Given the description of an element on the screen output the (x, y) to click on. 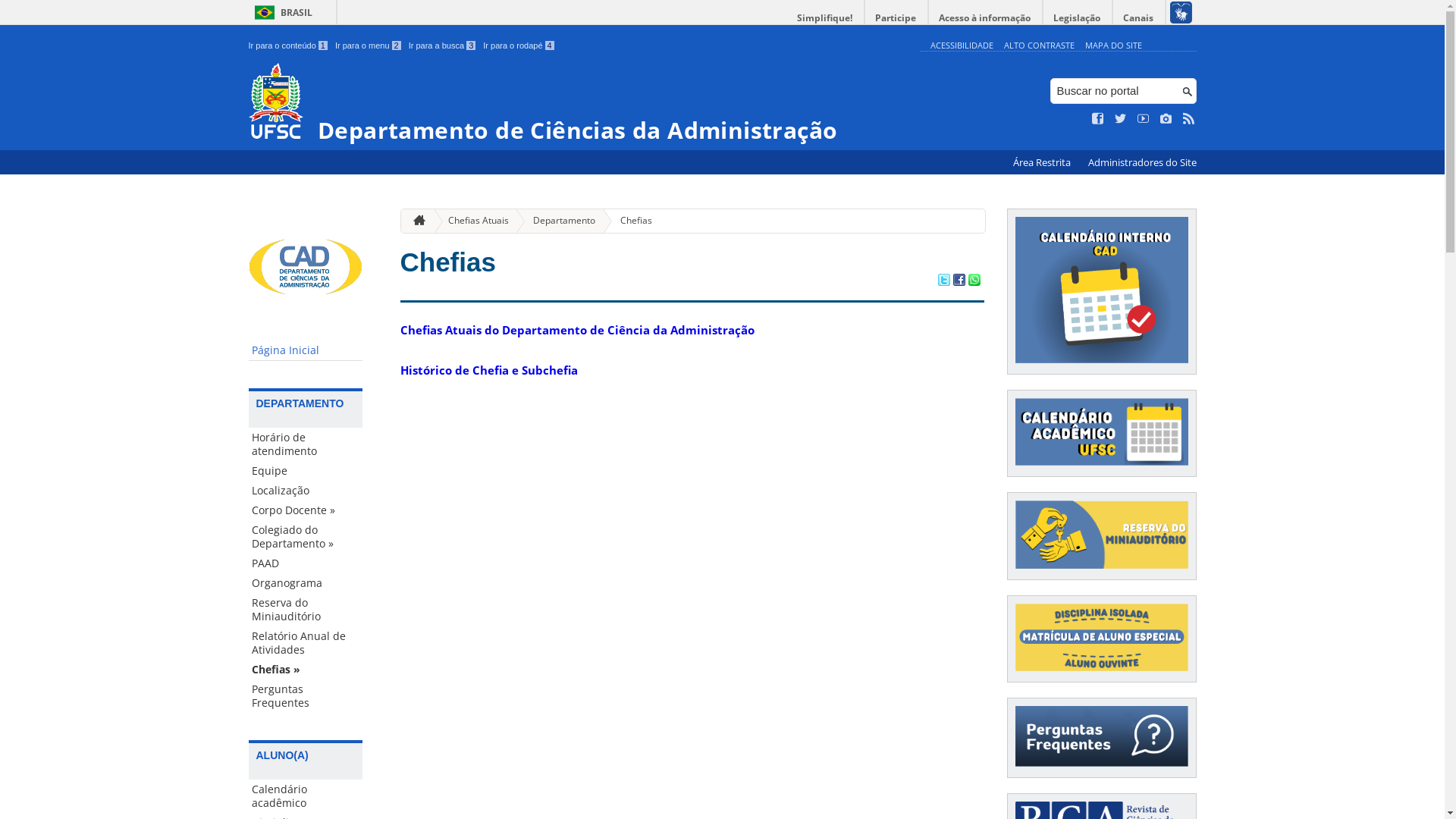
Ir para o menu 2 Element type: text (368, 45)
Simplifique! Element type: text (825, 18)
Veja no Instagram Element type: hover (1166, 118)
Siga no Twitter Element type: hover (1120, 118)
Chefias Element type: text (630, 220)
Compartilhar no Twitter Element type: hover (943, 280)
ALTO CONTRASTE Element type: text (1039, 44)
Organograma Element type: text (305, 583)
Participe Element type: text (895, 18)
Equipe Element type: text (305, 470)
Administradores do Site Element type: text (1141, 162)
MAPA DO SITE Element type: text (1112, 44)
Compartilhar no WhatsApp Element type: hover (973, 280)
Ir para a busca 3 Element type: text (442, 45)
PAAD Element type: text (305, 563)
ACESSIBILIDADE Element type: text (960, 44)
Departamento Element type: text (557, 220)
Chefias Element type: text (447, 261)
Compartilhar no Facebook Element type: hover (958, 280)
Curta no Facebook Element type: hover (1098, 118)
Perguntas Frequentes Element type: text (305, 695)
Chefias Atuais Element type: text (471, 220)
BRASIL Element type: text (280, 12)
Canais Element type: text (1138, 18)
